Given the description of an element on the screen output the (x, y) to click on. 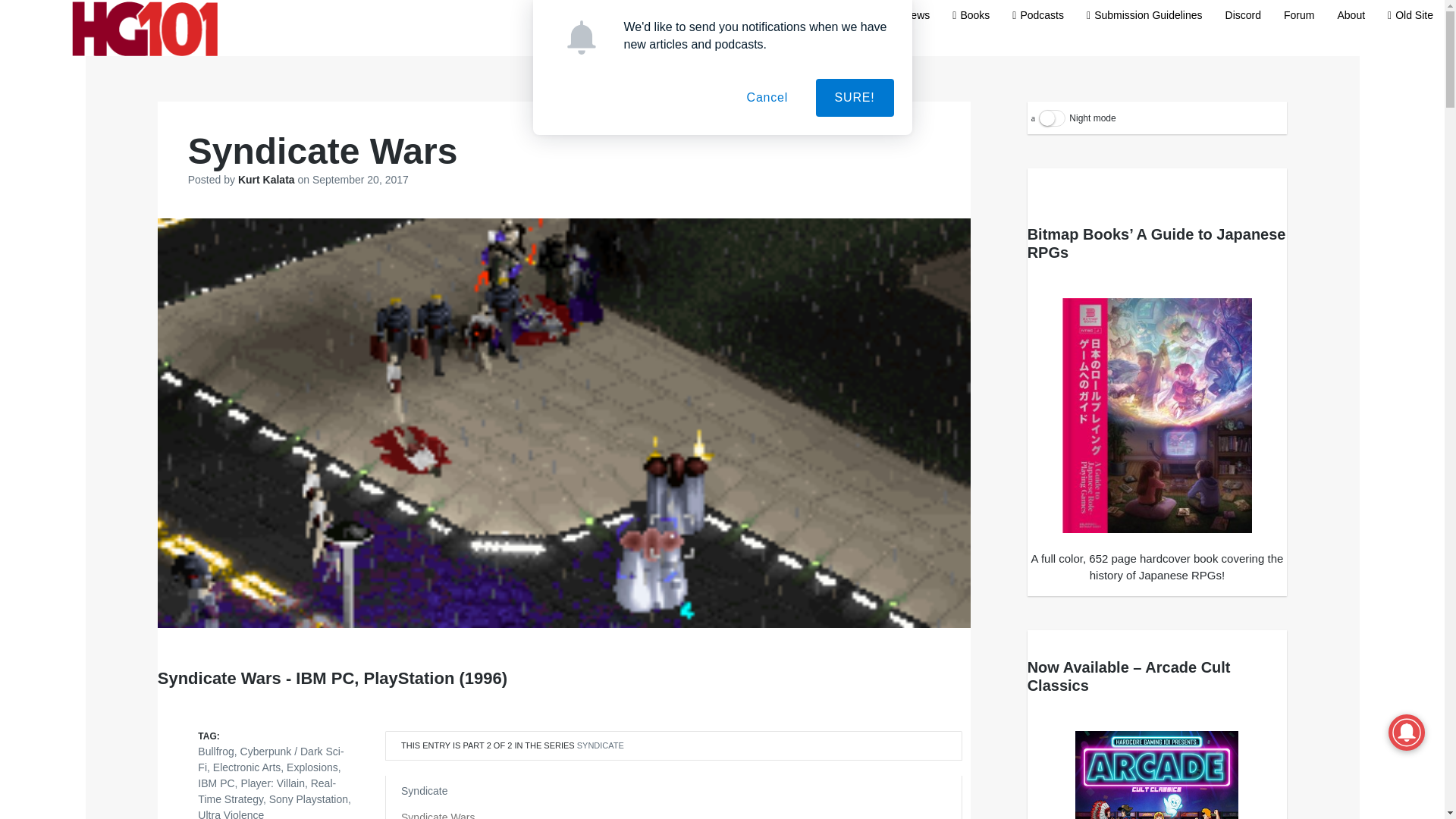
Syndicate (600, 745)
Syndicate (423, 790)
Syndicate (423, 790)
SYNDICATE (600, 745)
Kurt Kalata (268, 179)
